Given the description of an element on the screen output the (x, y) to click on. 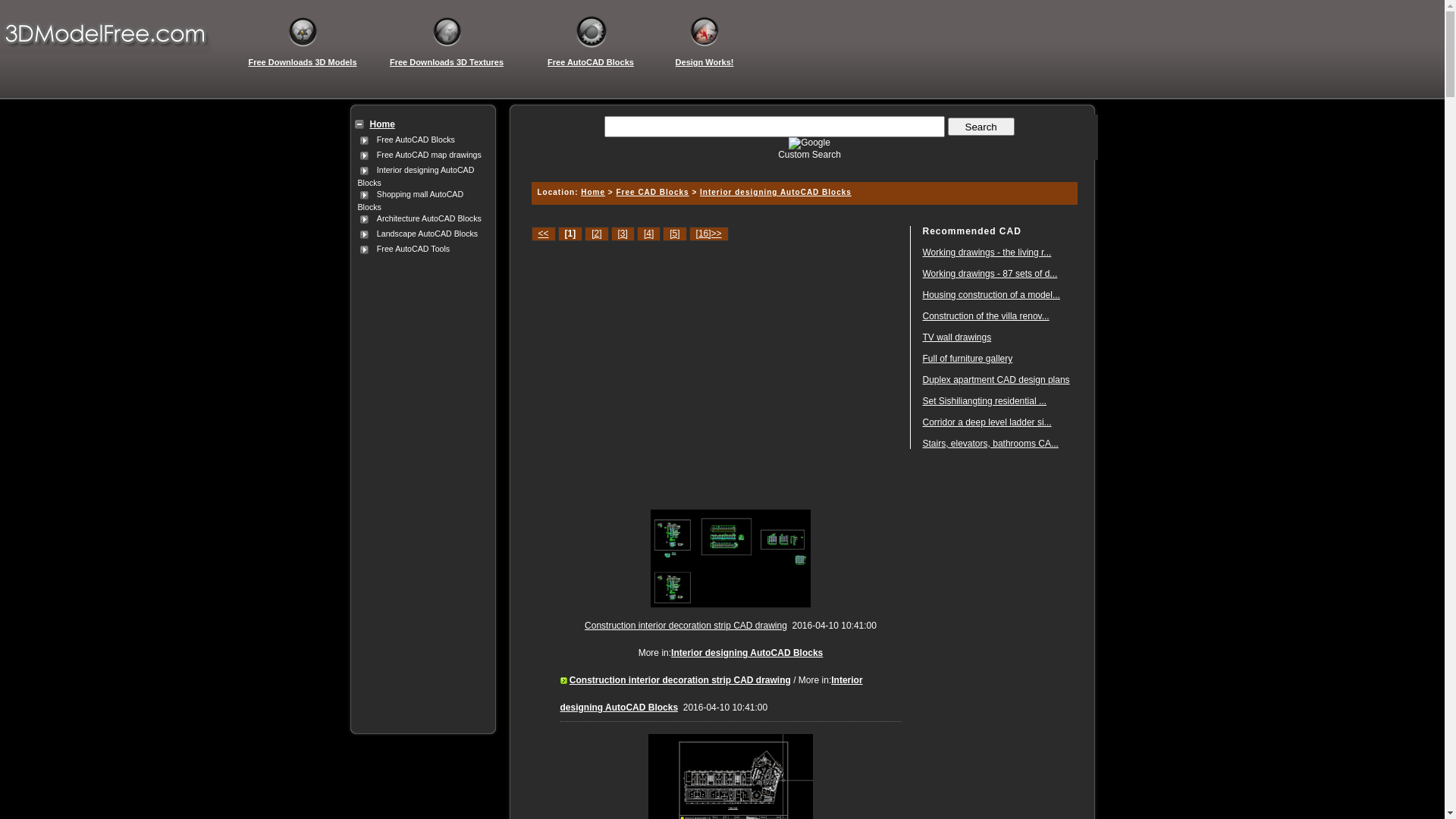
Shopping mall AutoCAD Blocks Element type: text (410, 200)
Corridor a deep level ladder si... Element type: text (986, 422)
Advertisement Element type: hover (727, 367)
[4] Element type: text (648, 233)
Free AutoCAD Blocks Element type: text (590, 61)
Duplex apartment CAD design plans Element type: text (995, 379)
Stairs, elevators, bathrooms CA... Element type: text (989, 443)
Home Element type: text (592, 192)
Construction interior decoration strip CAD drawing Element type: text (679, 679)
[16]>> Element type: text (708, 233)
Advertisement Element type: hover (419, 484)
Free Downloads 3D Models Element type: text (302, 61)
Free AutoCAD Blocks Element type: text (415, 139)
Free AutoCAD map drawings Element type: text (429, 154)
[3] Element type: text (622, 233)
TV wall drawings Element type: text (956, 337)
[2] Element type: text (596, 233)
Working drawings - the living r... Element type: text (986, 252)
Interior designing AutoCAD Blocks Element type: text (710, 693)
Architecture AutoCAD Blocks Element type: text (429, 218)
<< Element type: text (542, 233)
Interior designing AutoCAD Blocks Element type: text (775, 192)
Housing construction of a model... Element type: text (990, 294)
Design Works! Element type: text (703, 61)
[5] Element type: text (674, 233)
Free Downloads 3D Textures Element type: text (446, 61)
Advertisement Element type: hover (802, 165)
Interior designing AutoCAD Blocks Element type: text (746, 652)
Full of furniture gallery Element type: text (967, 358)
Set Sishiliangting residential ... Element type: text (983, 400)
Free CAD Blocks Element type: text (651, 192)
Interior designing AutoCAD Blocks Element type: text (415, 175)
Free AutoCAD Tools Element type: text (413, 248)
Working drawings - 87 sets of d... Element type: text (989, 273)
Construction of the villa renov... Element type: text (985, 315)
    Search     Element type: text (980, 126)
Landscape AutoCAD Blocks Element type: text (427, 233)
Home Element type: text (382, 124)
Construction interior decoration strip CAD drawing Element type: text (685, 625)
